Given the description of an element on the screen output the (x, y) to click on. 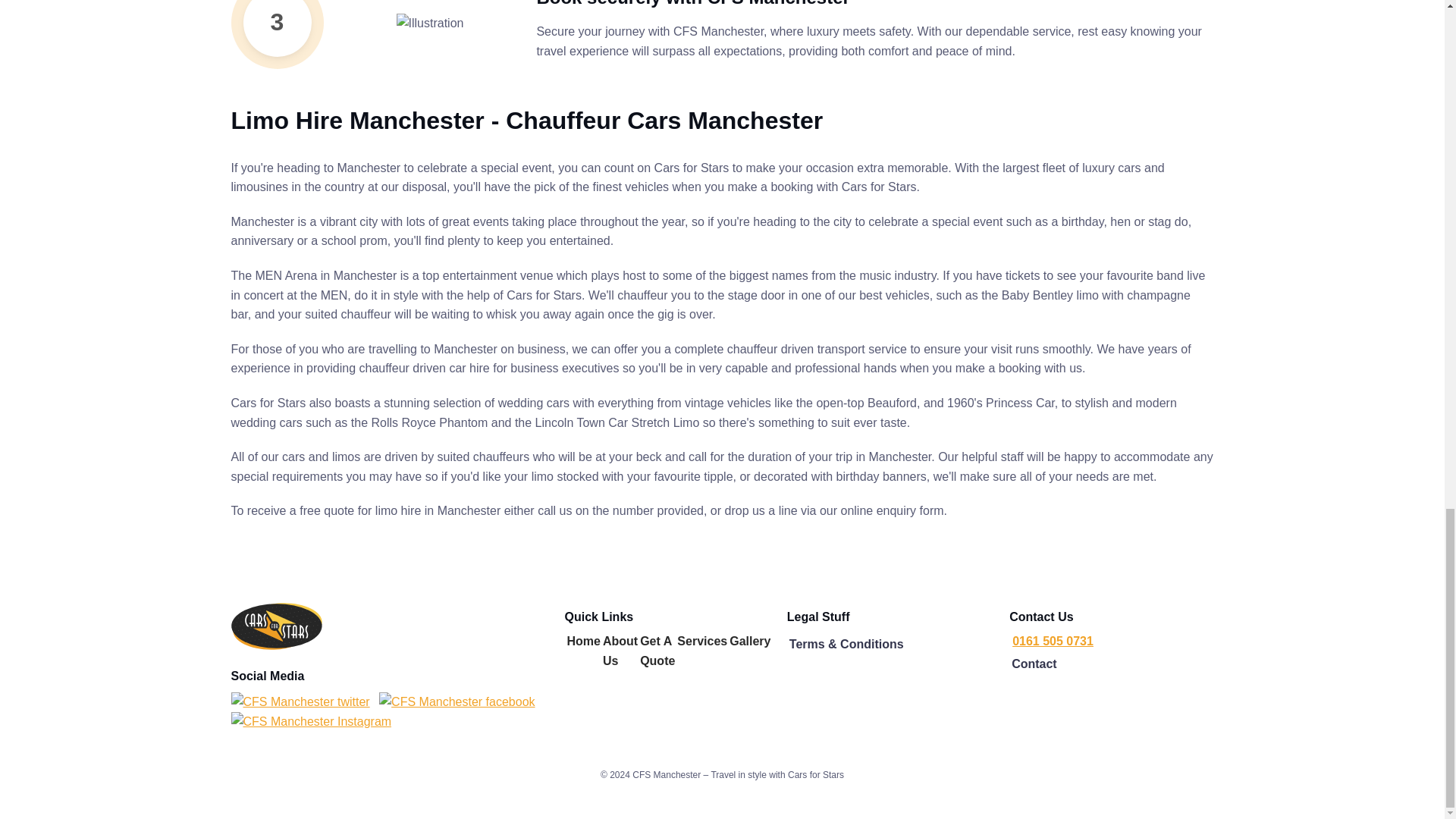
0161 505 0731 (1110, 641)
About Us (619, 650)
Contact (1034, 665)
Gallery (749, 640)
Home (582, 640)
Get A Quote (657, 650)
Services (701, 640)
